Given the description of an element on the screen output the (x, y) to click on. 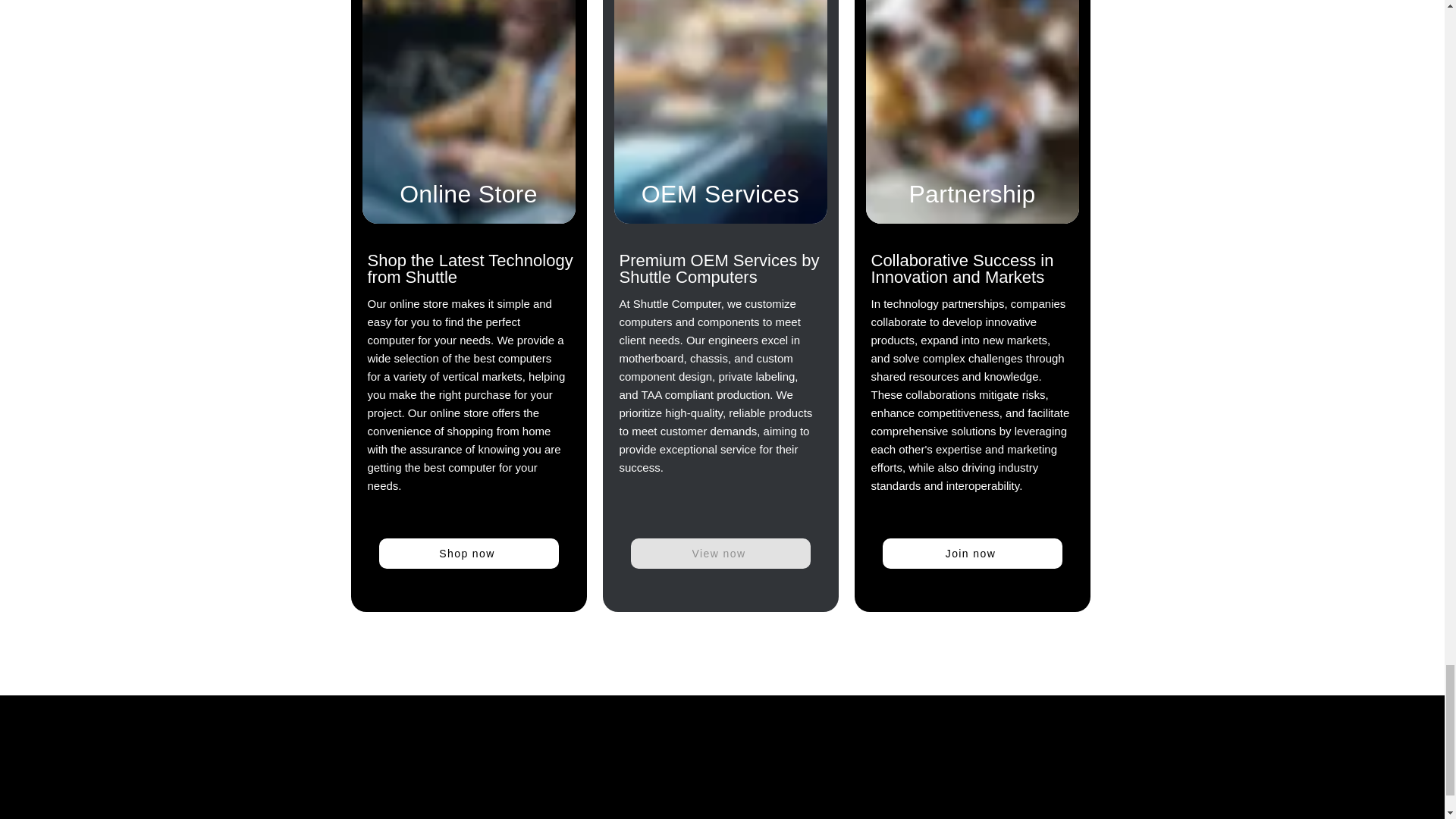
Join now (972, 553)
Shop now (468, 553)
View now (720, 553)
